Given the description of an element on the screen output the (x, y) to click on. 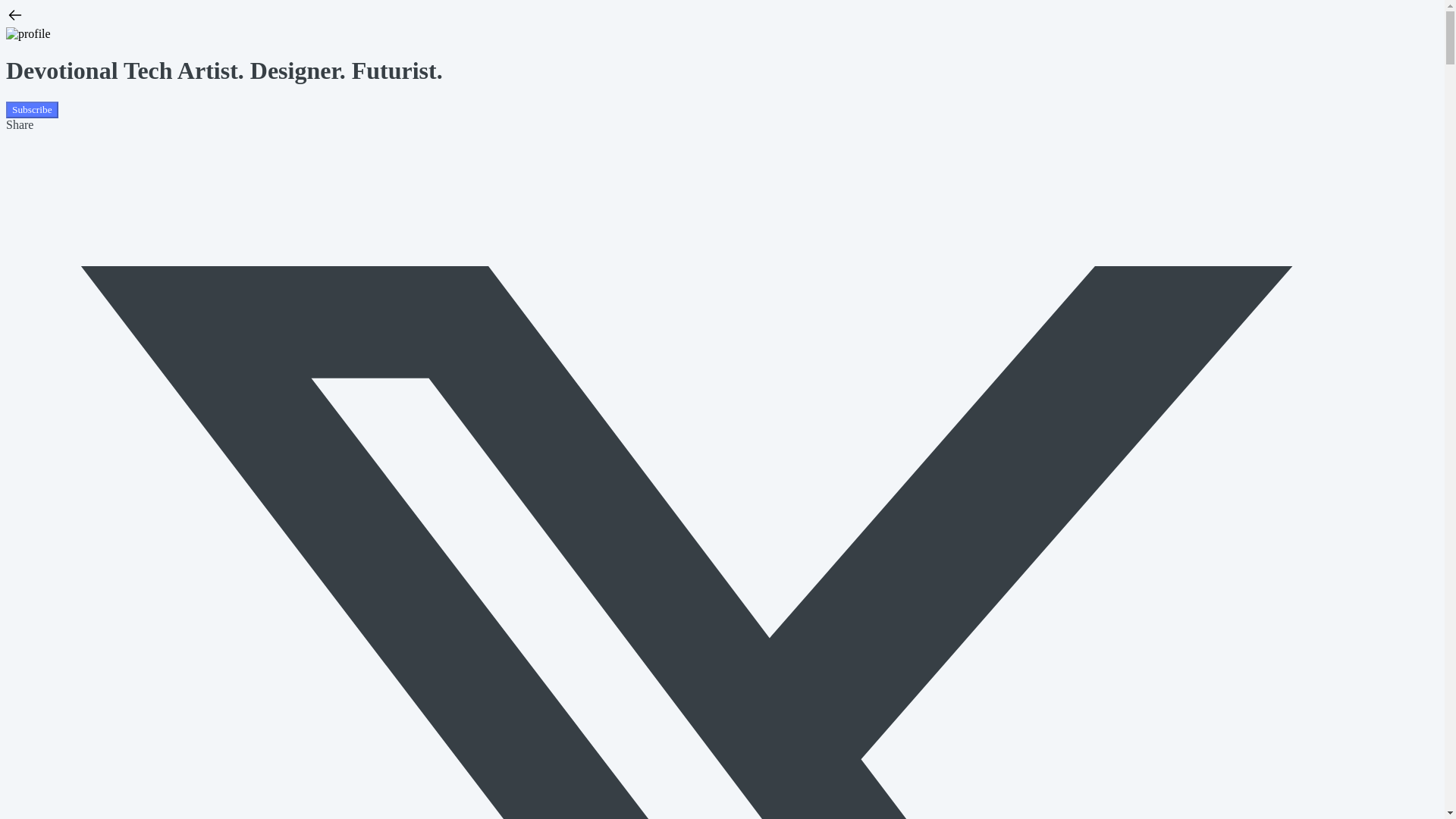
Arrow Left (14, 19)
Subscribe (31, 109)
Arrow Left (14, 14)
